Given the description of an element on the screen output the (x, y) to click on. 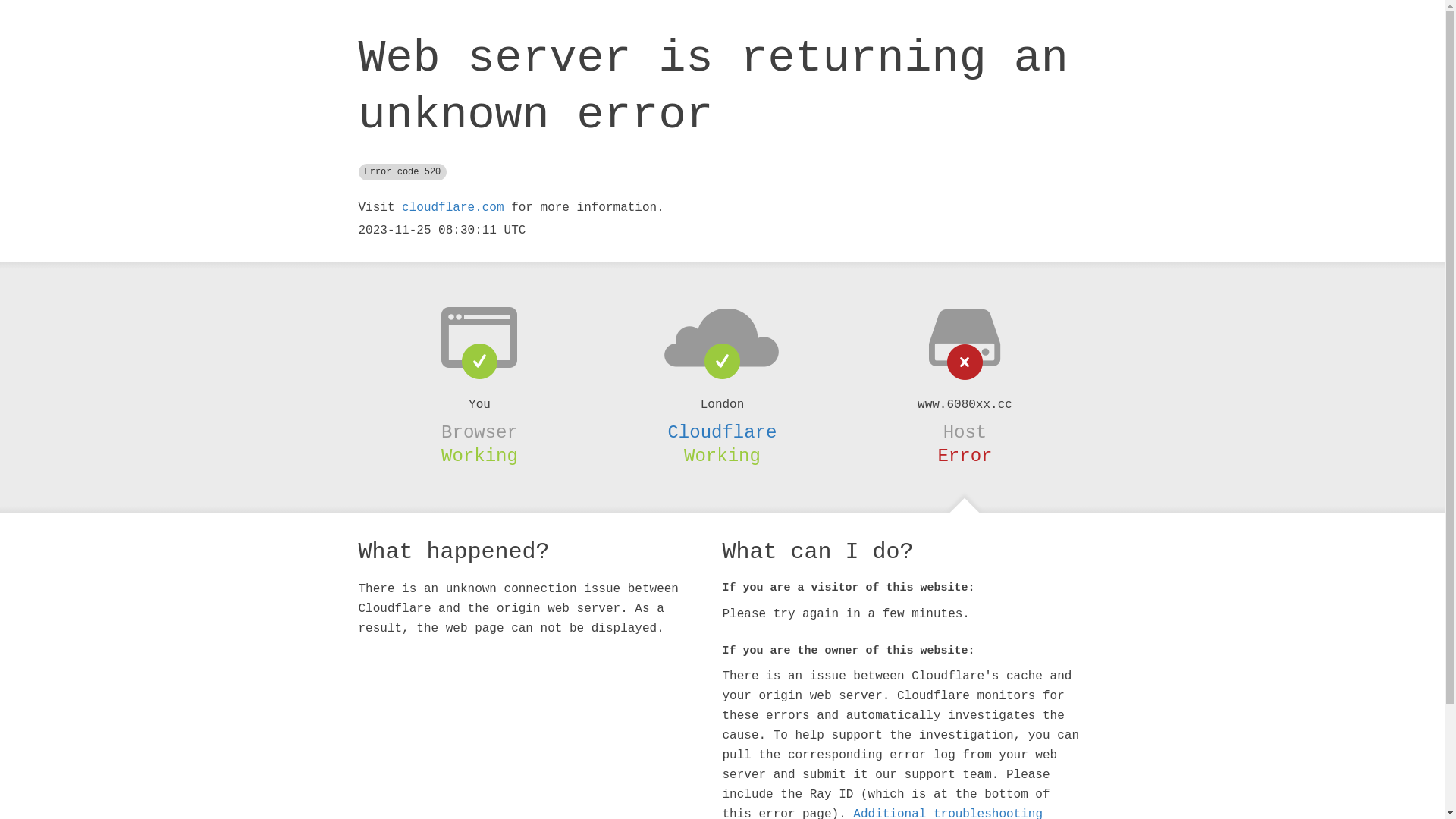
cloudflare.com Element type: text (452, 207)
Cloudflare Element type: text (721, 432)
